Given the description of an element on the screen output the (x, y) to click on. 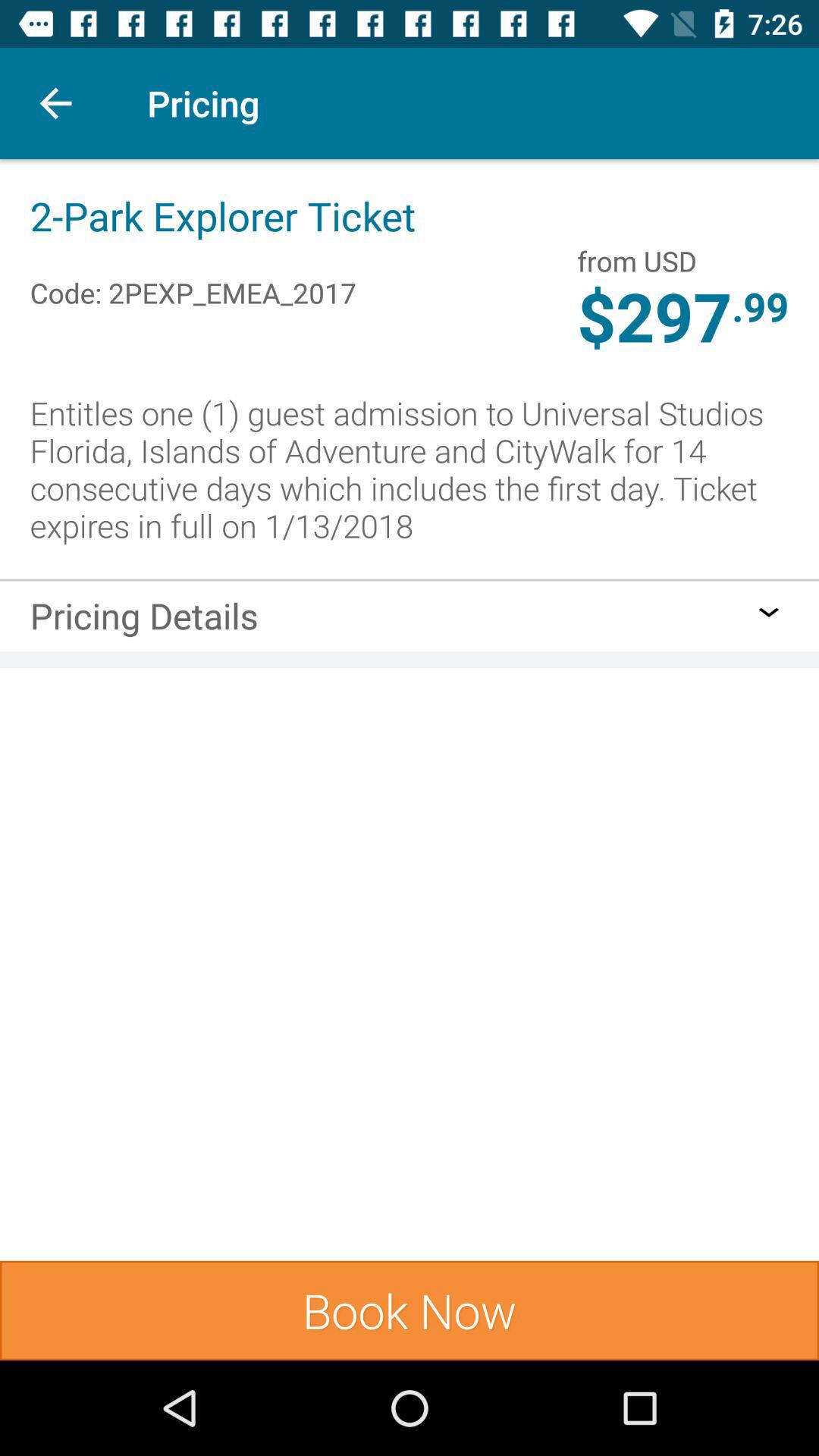
turn off the item to the left of the .99 icon (654, 318)
